Given the description of an element on the screen output the (x, y) to click on. 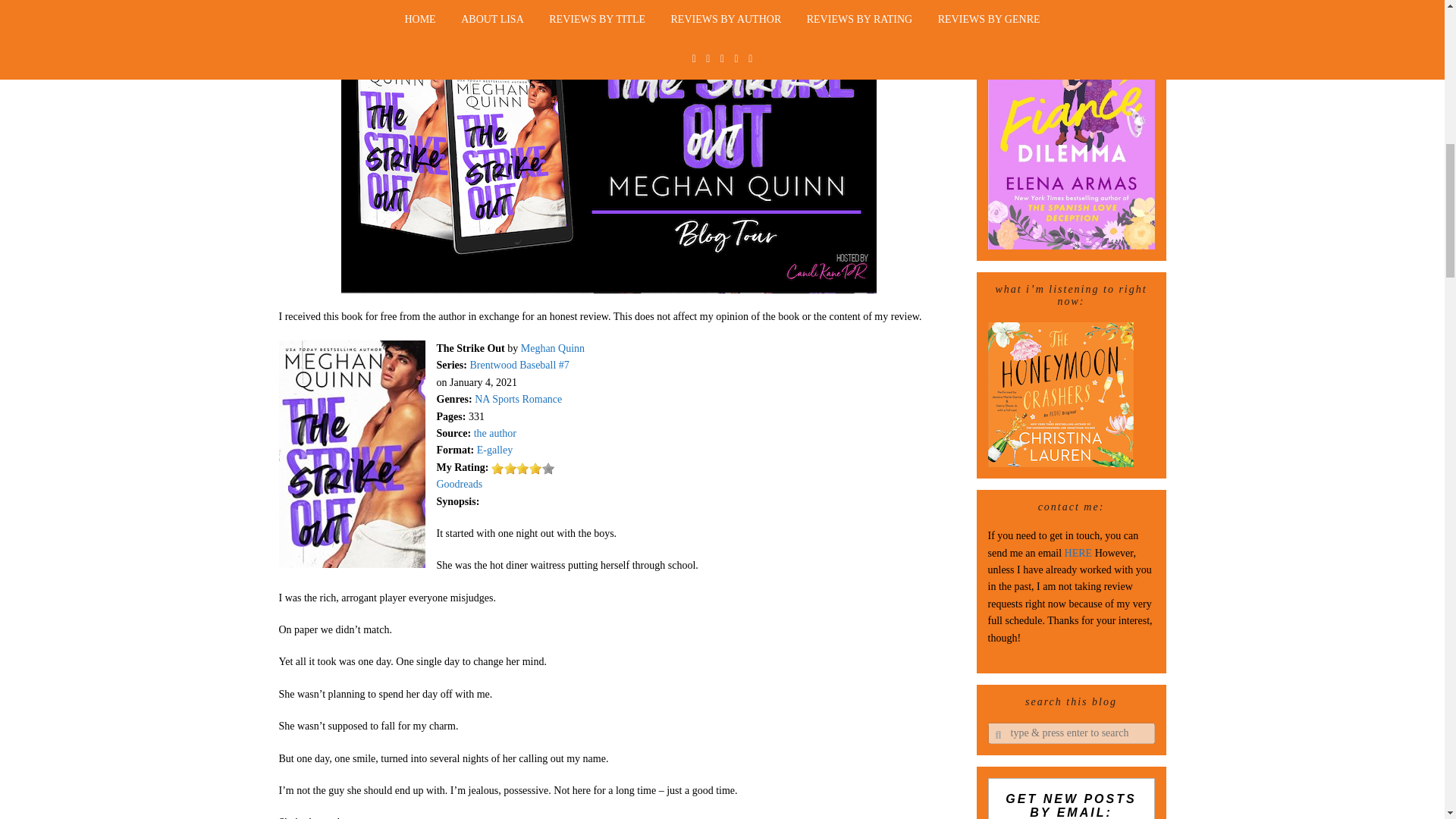
NA Sports Romance (518, 398)
the author (495, 432)
Meghan Quinn (553, 348)
E-galley (494, 449)
Goodreads (459, 483)
